Given the description of an element on the screen output the (x, y) to click on. 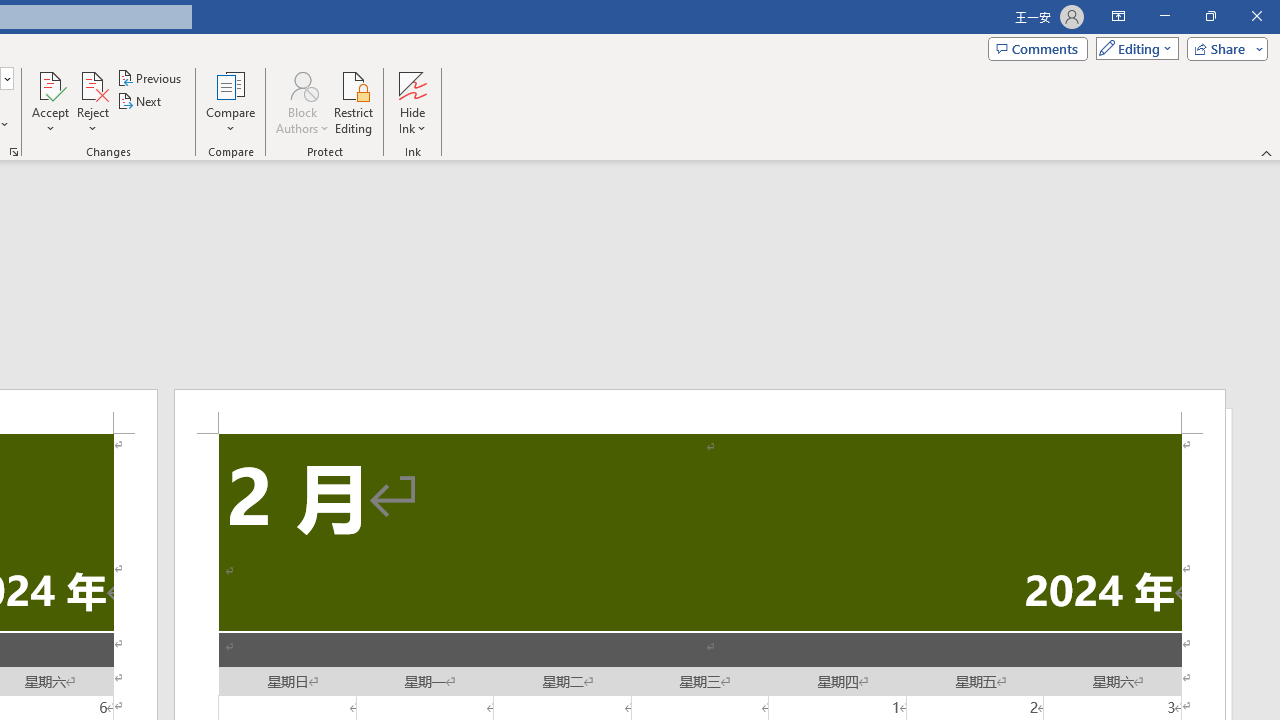
Next (140, 101)
Previous (150, 78)
Block Authors (302, 84)
Reject (92, 102)
Reject and Move to Next (92, 84)
Hide Ink (412, 102)
Block Authors (302, 102)
